Given the description of an element on the screen output the (x, y) to click on. 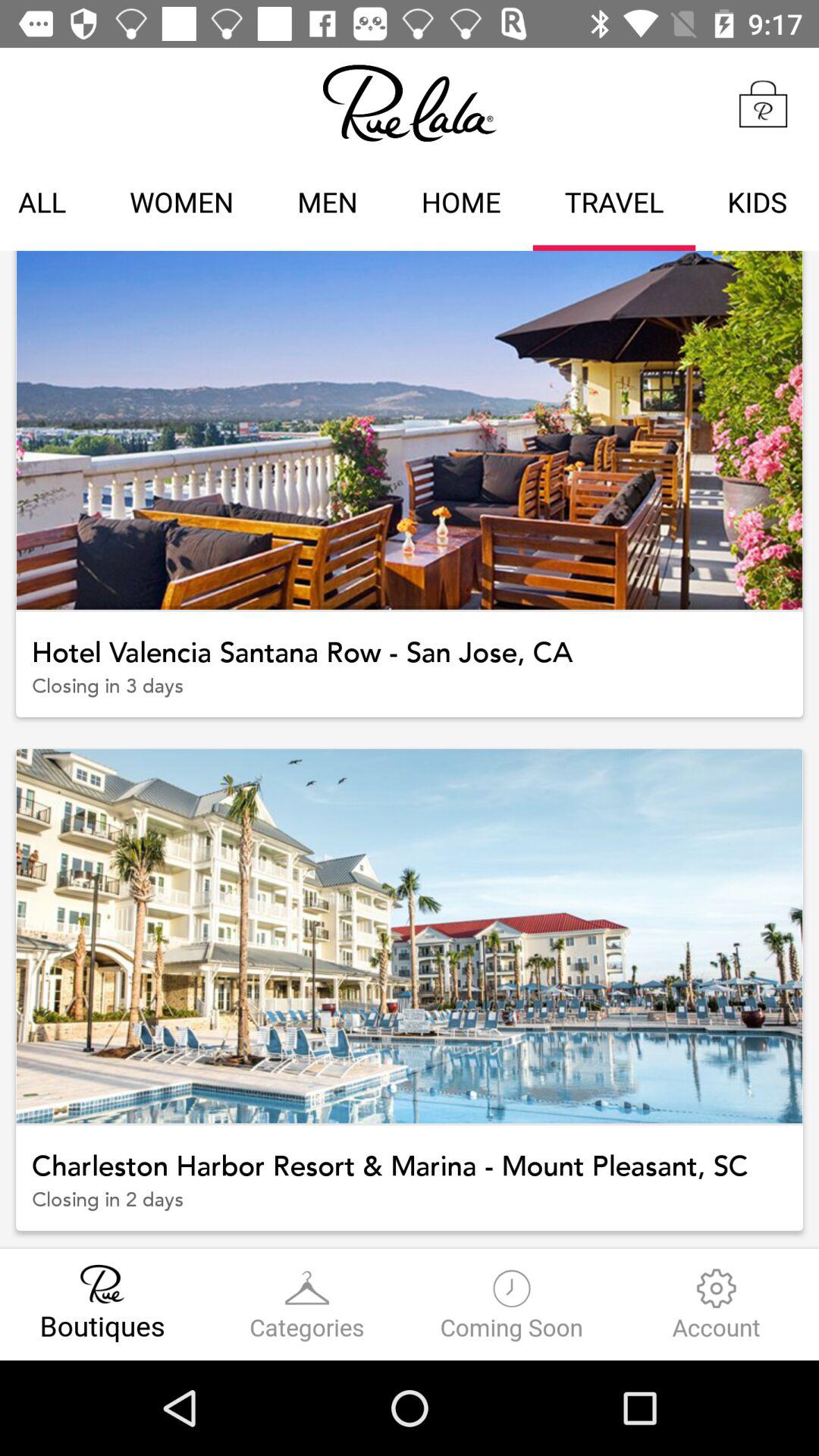
launch the item to the left of the kids item (613, 204)
